Given the description of an element on the screen output the (x, y) to click on. 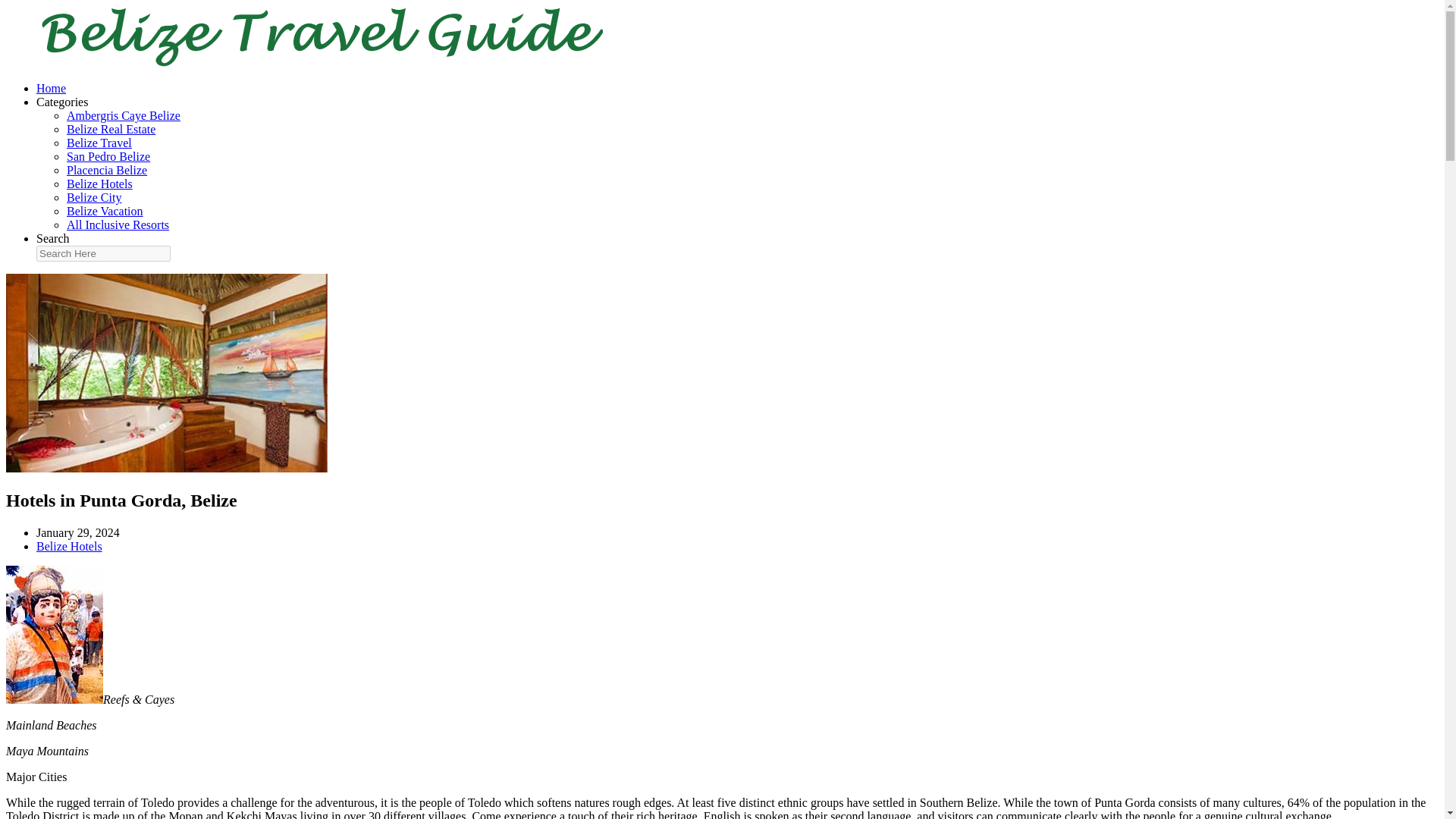
Belize Hotels (99, 183)
San Pedro Belize (107, 155)
All Inclusive Resorts (117, 224)
Ambergris Caye Belize (123, 115)
Placencia Belize (106, 169)
Belize City (93, 196)
Belize Vacation (104, 210)
Categories (61, 101)
Belize Travel Guide (308, 62)
Home (50, 88)
